Given the description of an element on the screen output the (x, y) to click on. 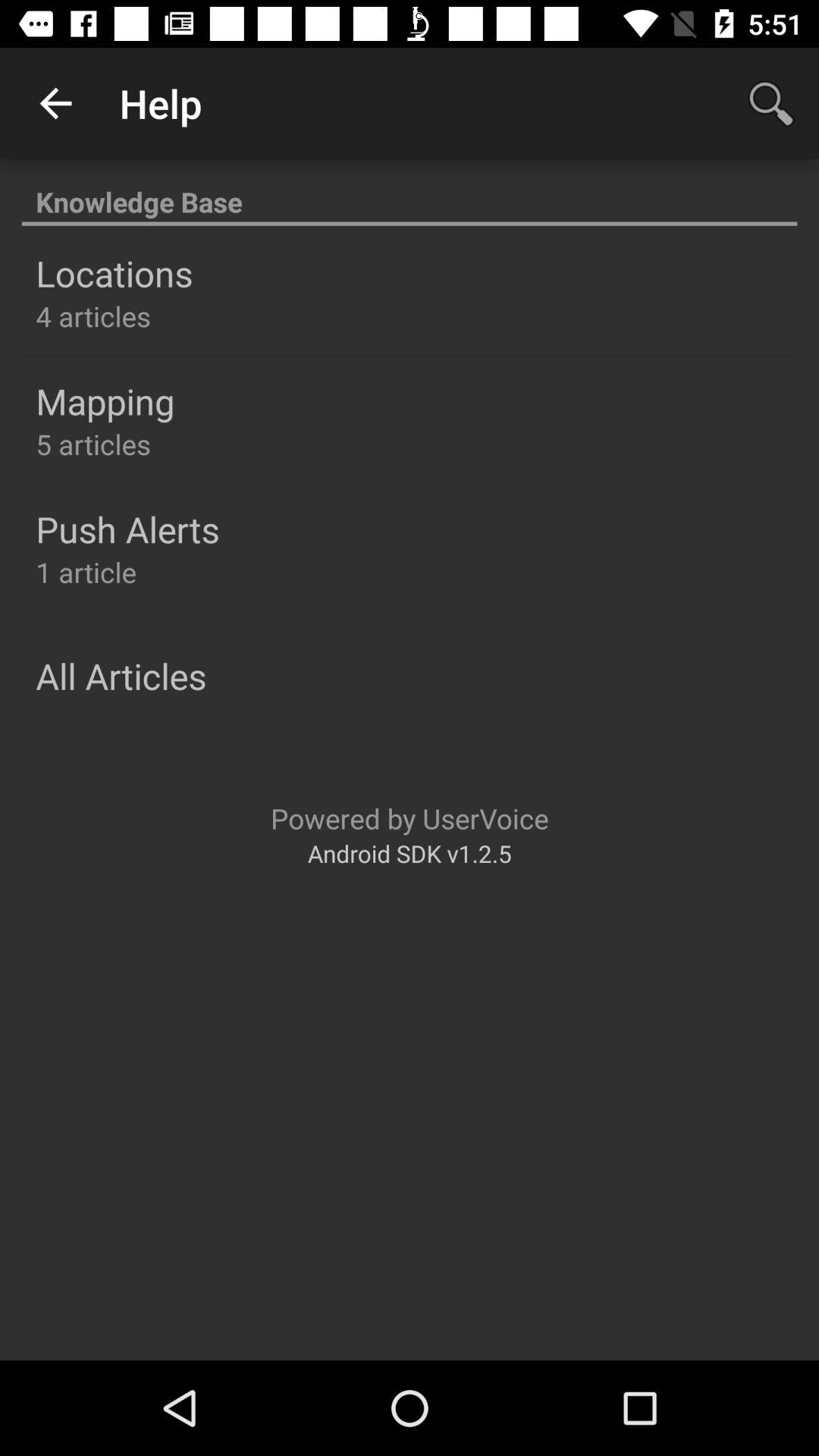
turn off locations item (113, 273)
